Given the description of an element on the screen output the (x, y) to click on. 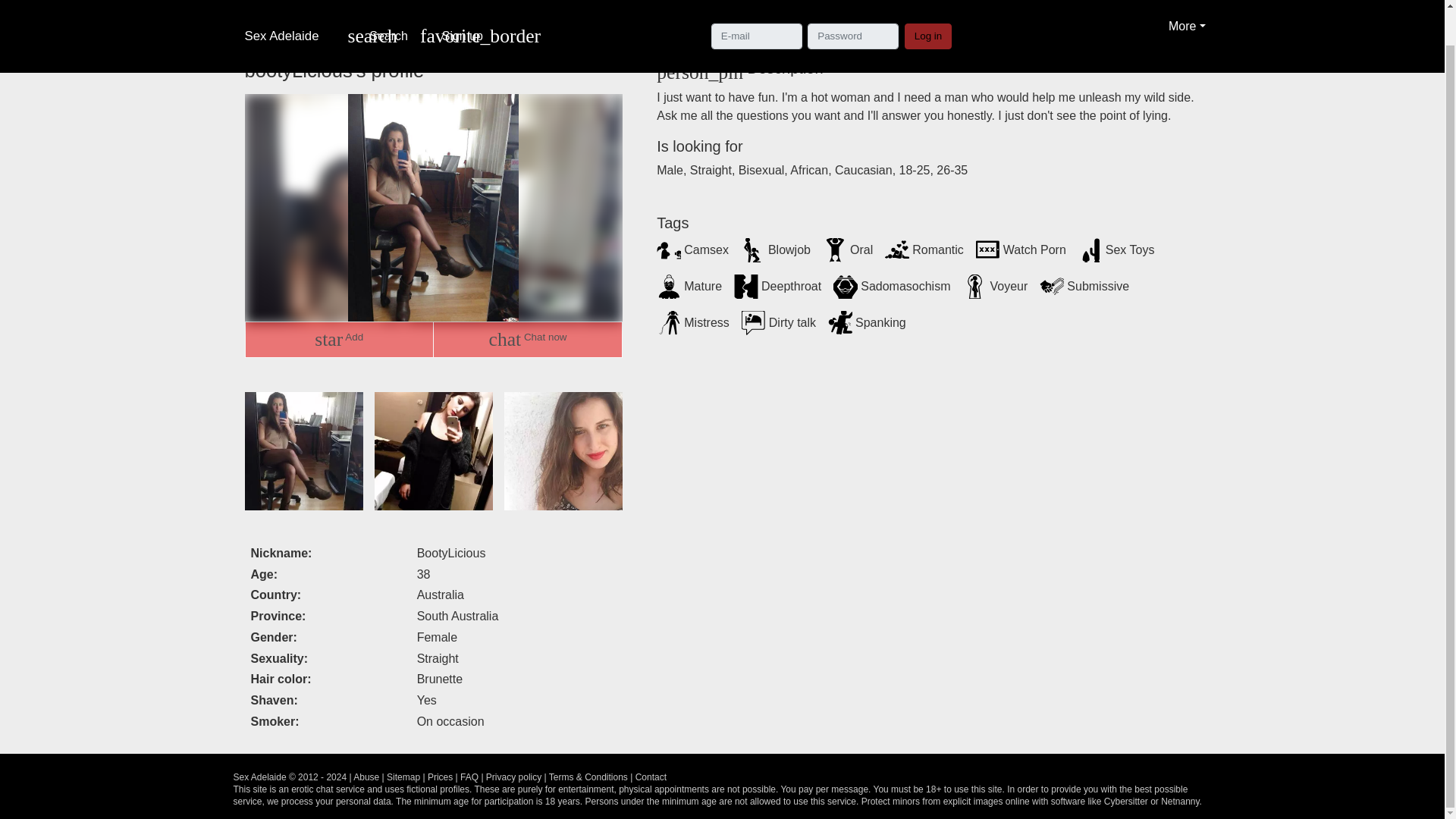
Sitemap (403, 777)
Sex Adelaide (376, 18)
Contact (287, 15)
Privacy policy (650, 777)
More (513, 777)
FAQ (1186, 15)
Log in (469, 777)
star Add (928, 6)
chat Chat now (338, 339)
